Given the description of an element on the screen output the (x, y) to click on. 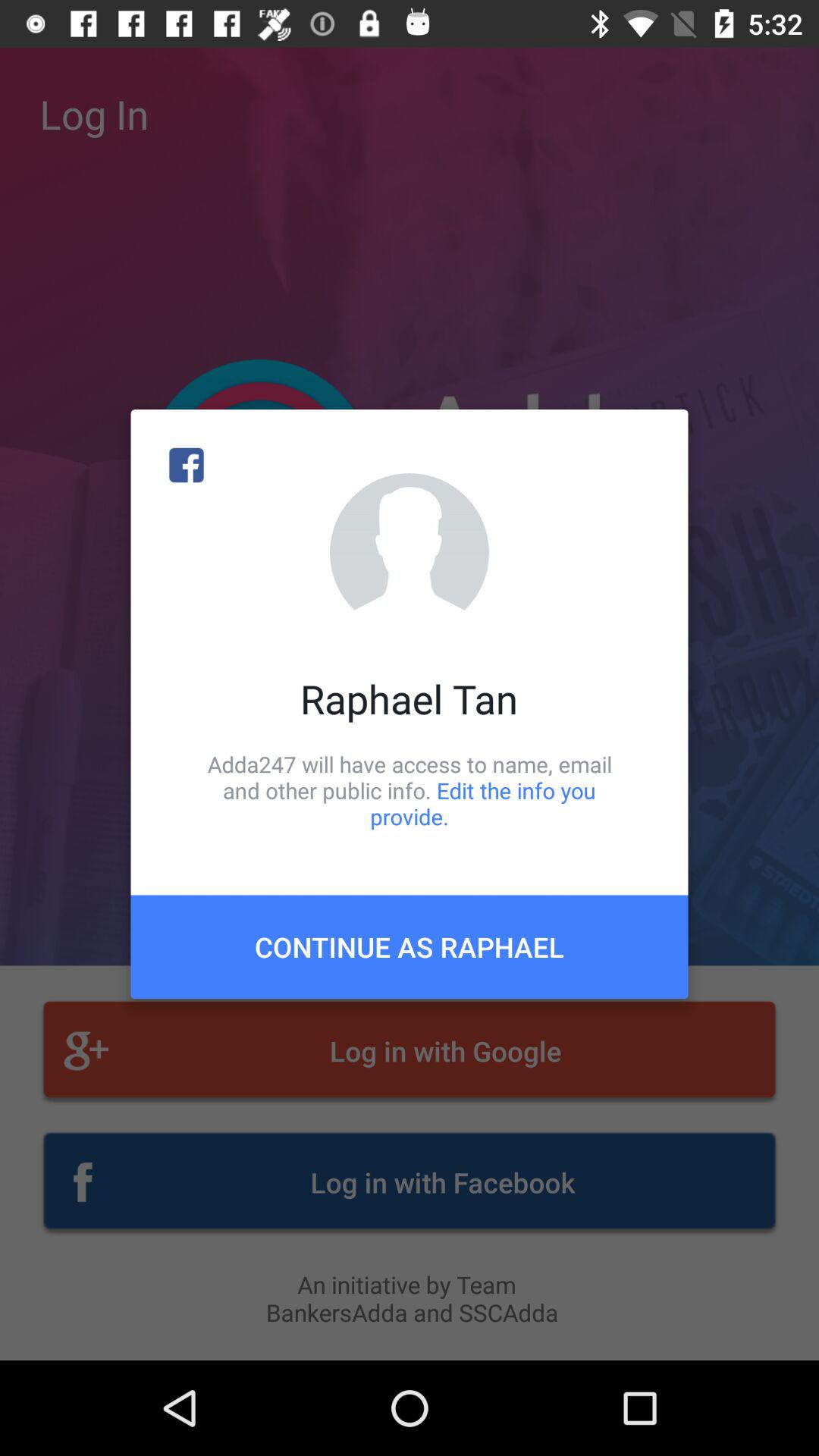
choose icon below adda247 will have (409, 946)
